Given the description of an element on the screen output the (x, y) to click on. 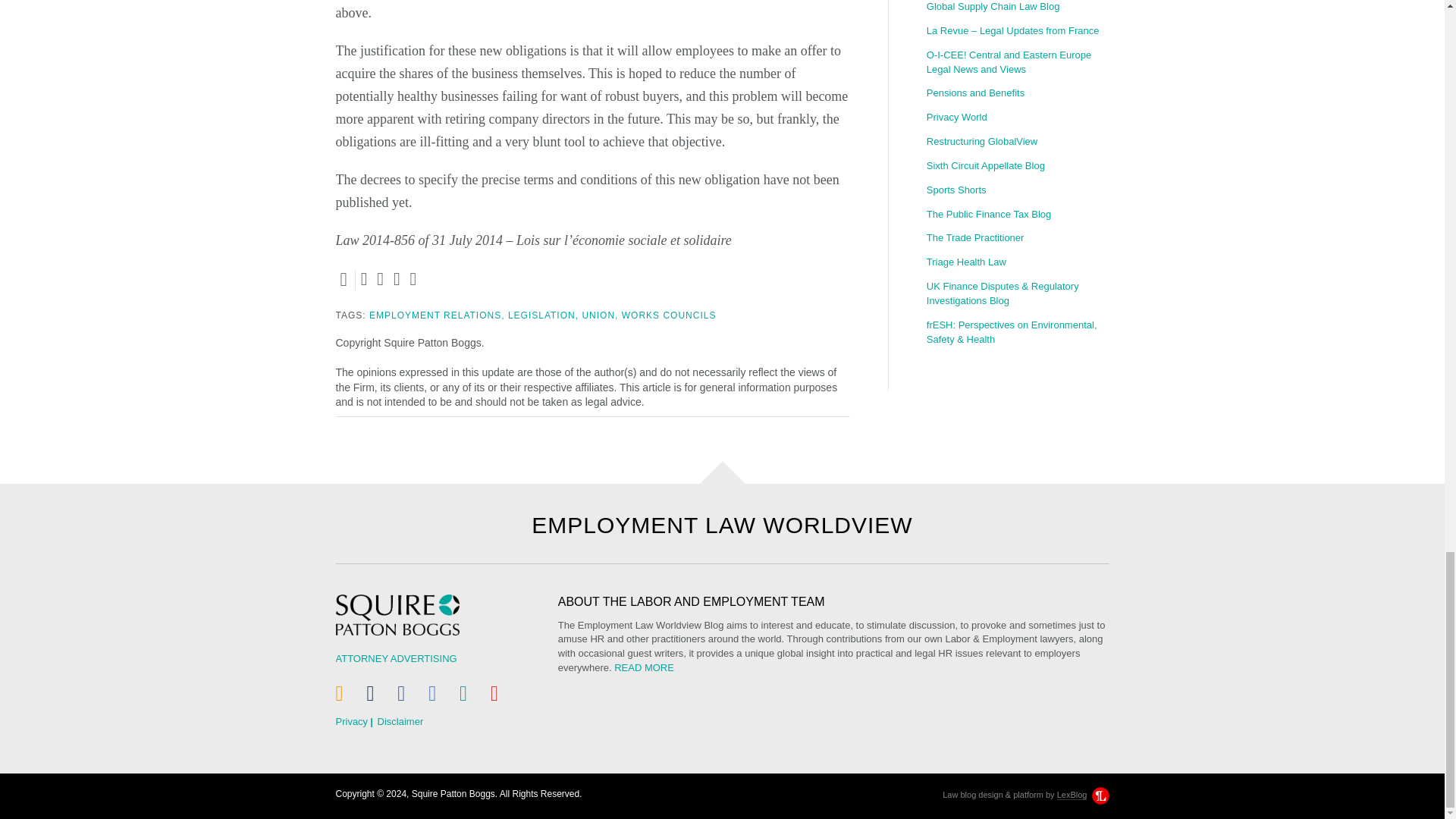
UNION, (598, 315)
LEGISLATION, (543, 315)
WORKS COUNCILS (668, 315)
EMPLOYMENT RELATIONS, (437, 315)
